Given the description of an element on the screen output the (x, y) to click on. 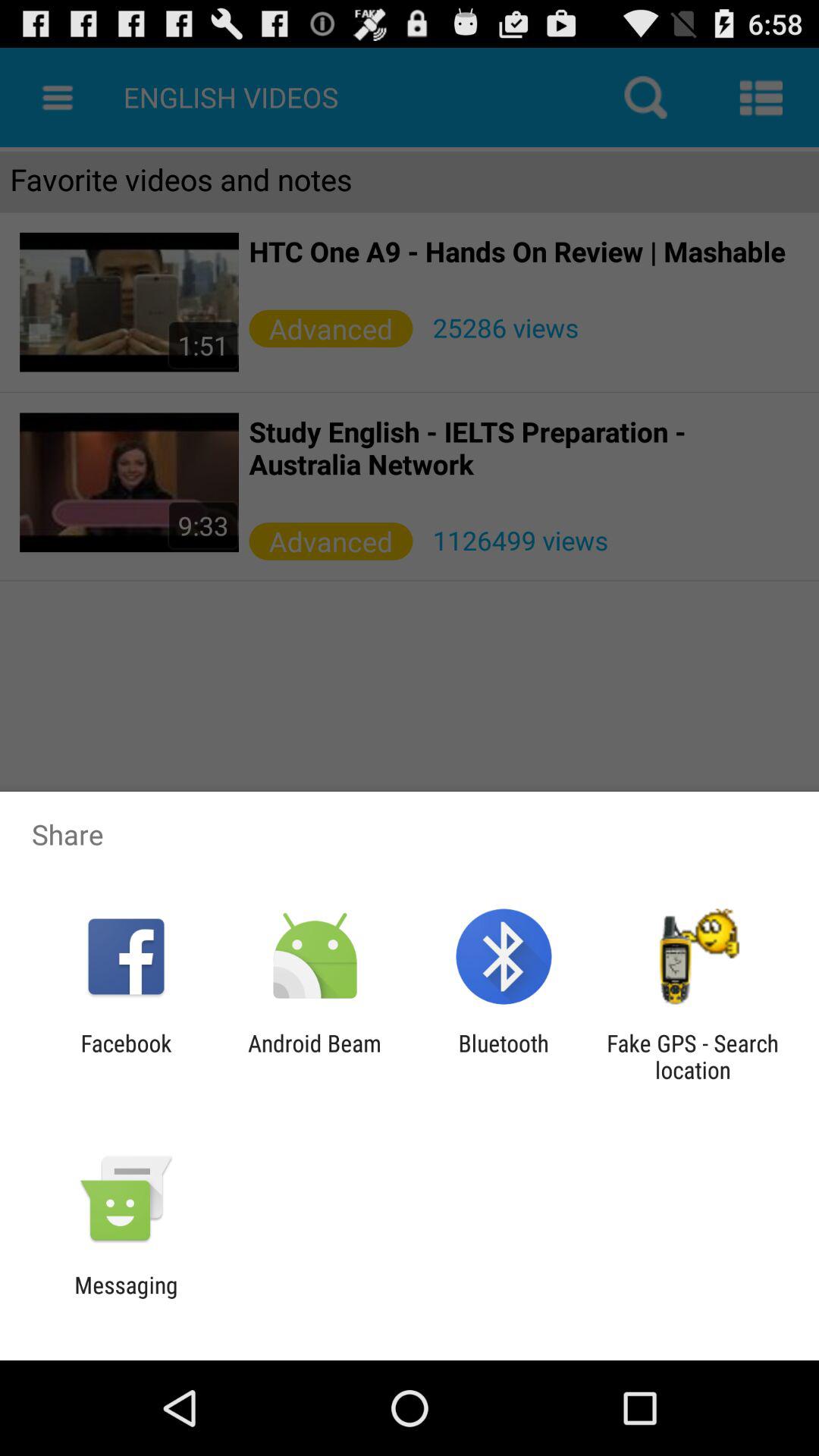
jump to bluetooth item (503, 1056)
